Given the description of an element on the screen output the (x, y) to click on. 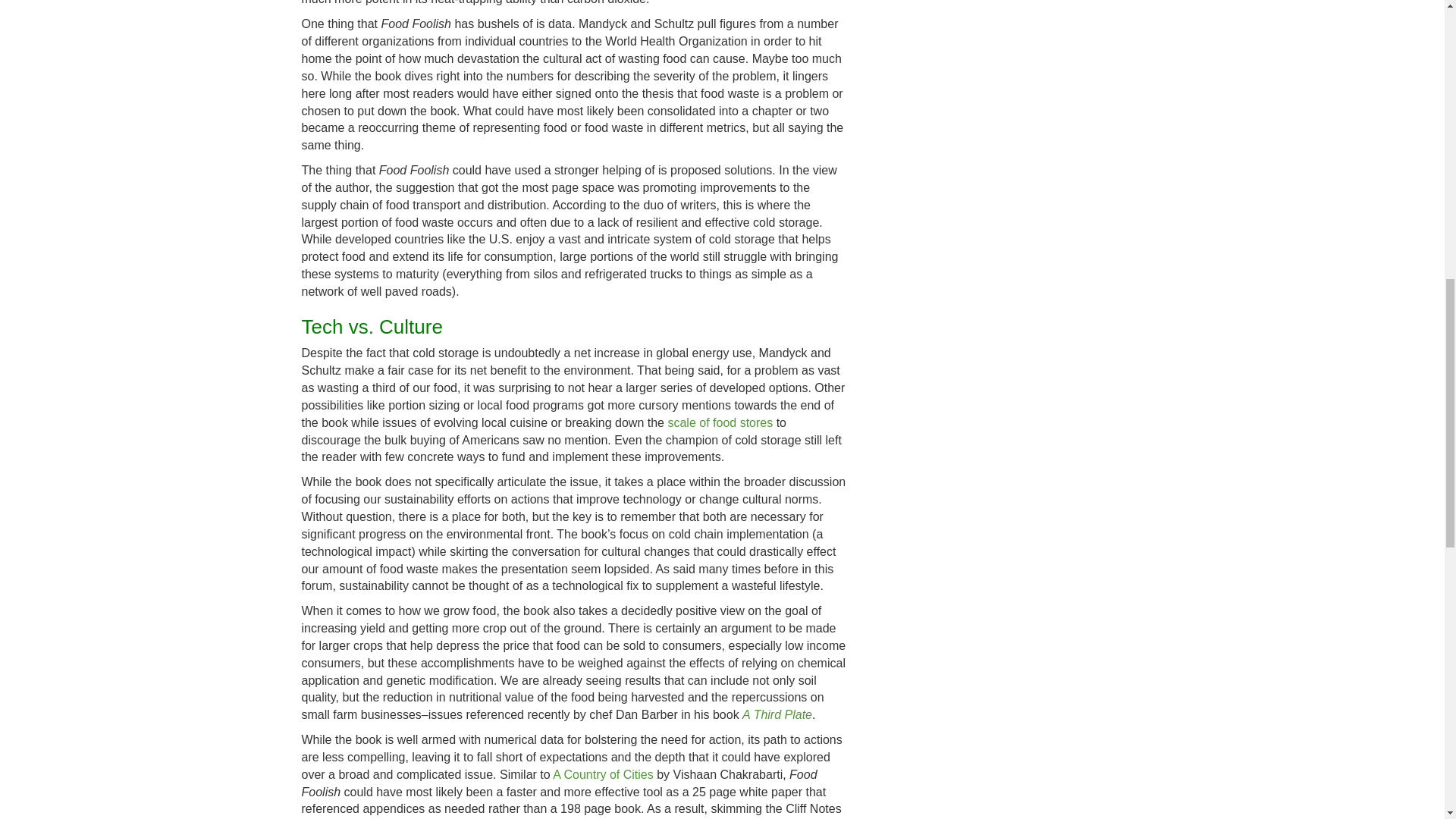
A Country of Cities (603, 774)
A Third Plate (777, 714)
scale of food stores (719, 422)
